Given the description of an element on the screen output the (x, y) to click on. 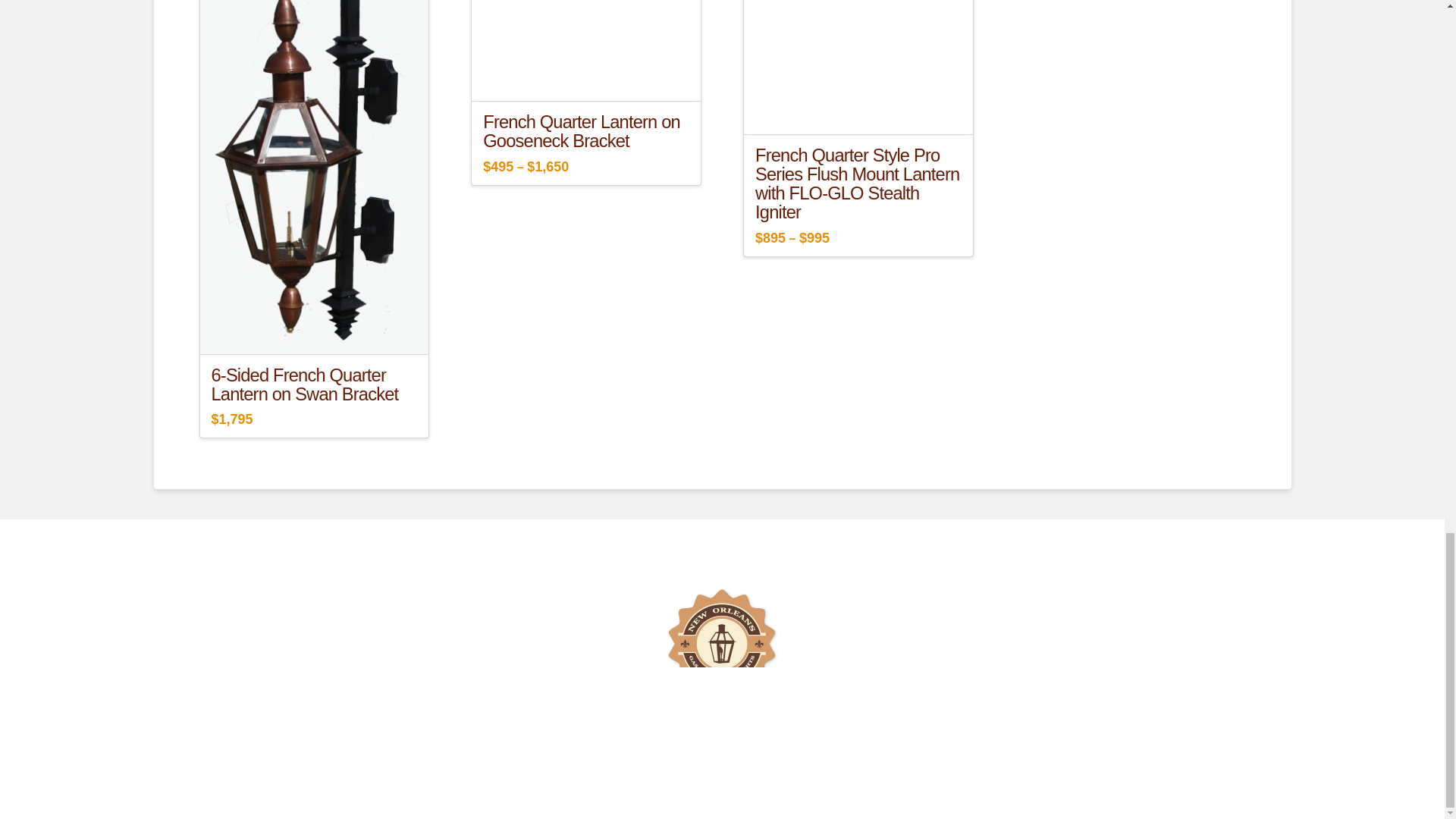
Return and Refund Policy (722, 572)
French Quarter Lantern on Gooseneck Bracket (581, 131)
VIEW ALL PRODUCTS (640, 539)
HOME (563, 539)
CONTACT (788, 539)
CHECKOUT (729, 539)
6-Sided French Quarter Lantern on Swan Bracket (304, 384)
